Given the description of an element on the screen output the (x, y) to click on. 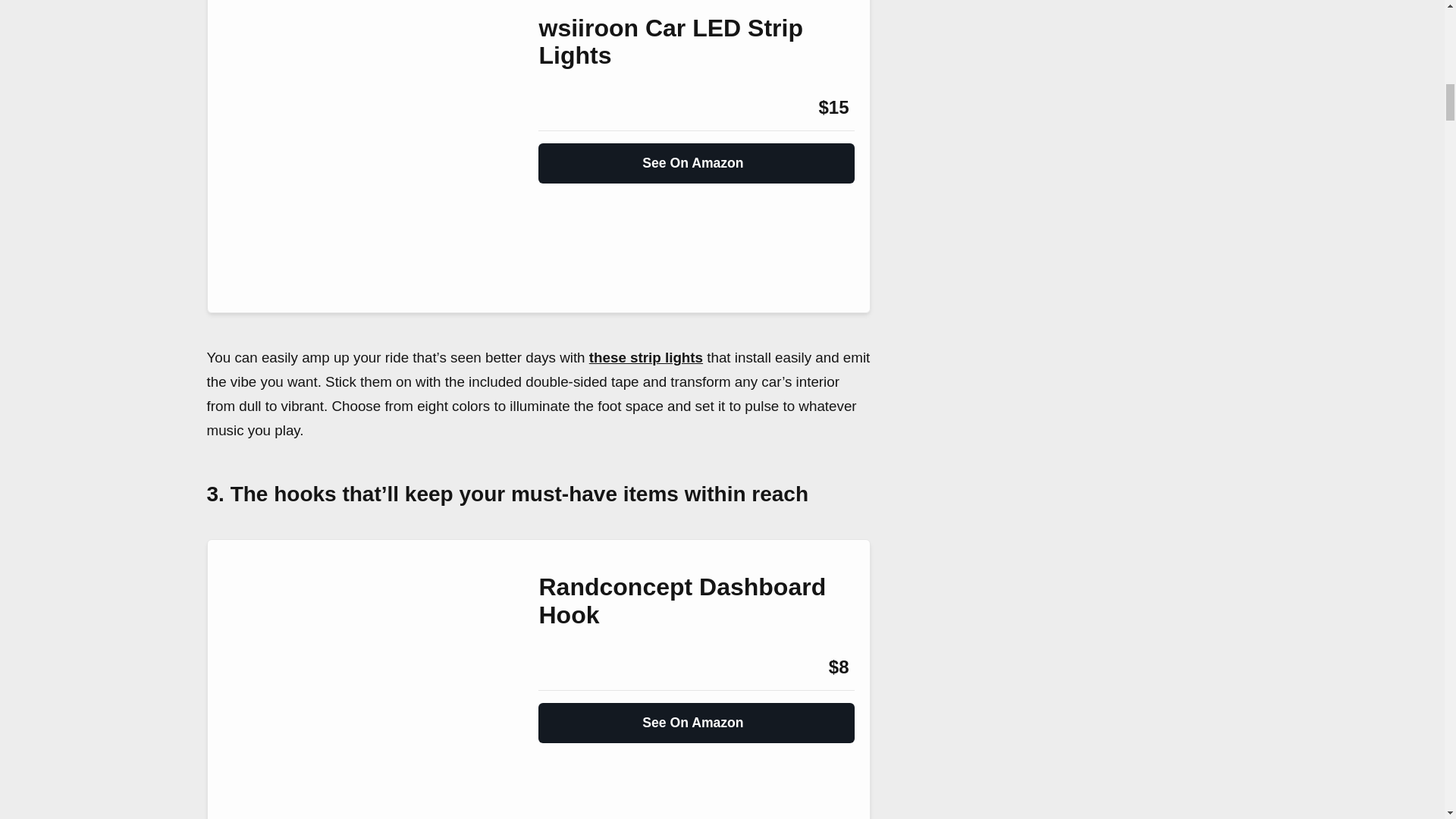
See On Amazon (696, 716)
Amazon (579, 107)
See On Amazon (696, 156)
Amazon (579, 667)
these strip lights (646, 357)
